Given the description of an element on the screen output the (x, y) to click on. 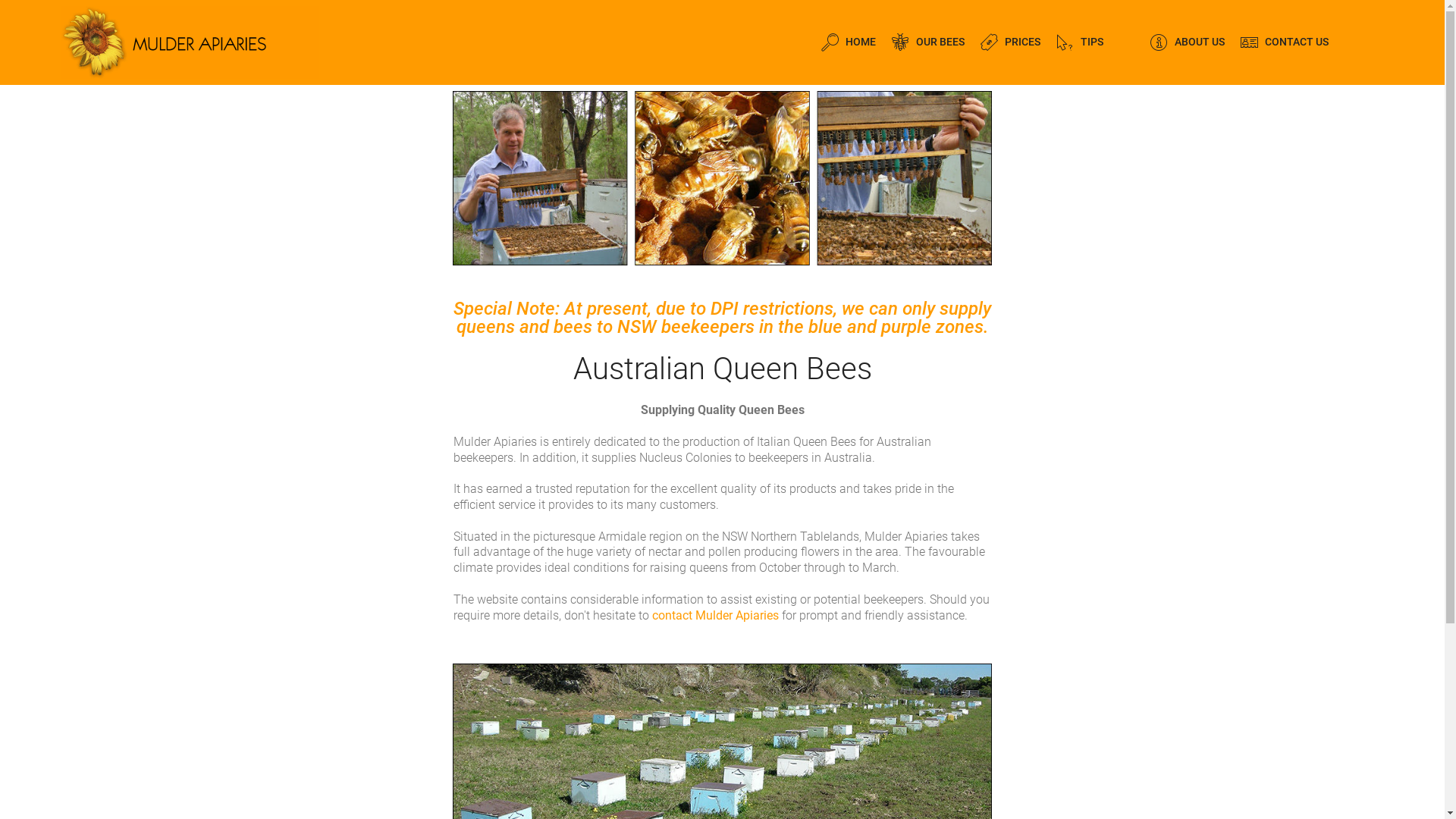
PRICES Element type: text (1010, 42)
contact Mulder Apiaries Element type: text (715, 615)
HOME Element type: text (848, 42)
OUR BEES Element type: text (927, 42)
ABOUT US Element type: text (1187, 42)
Mulder Apiaries Element type: hover (189, 42)
CONTACT US Element type: text (1284, 42)
TIPS Element type: text (1079, 42)
